Given the description of an element on the screen output the (x, y) to click on. 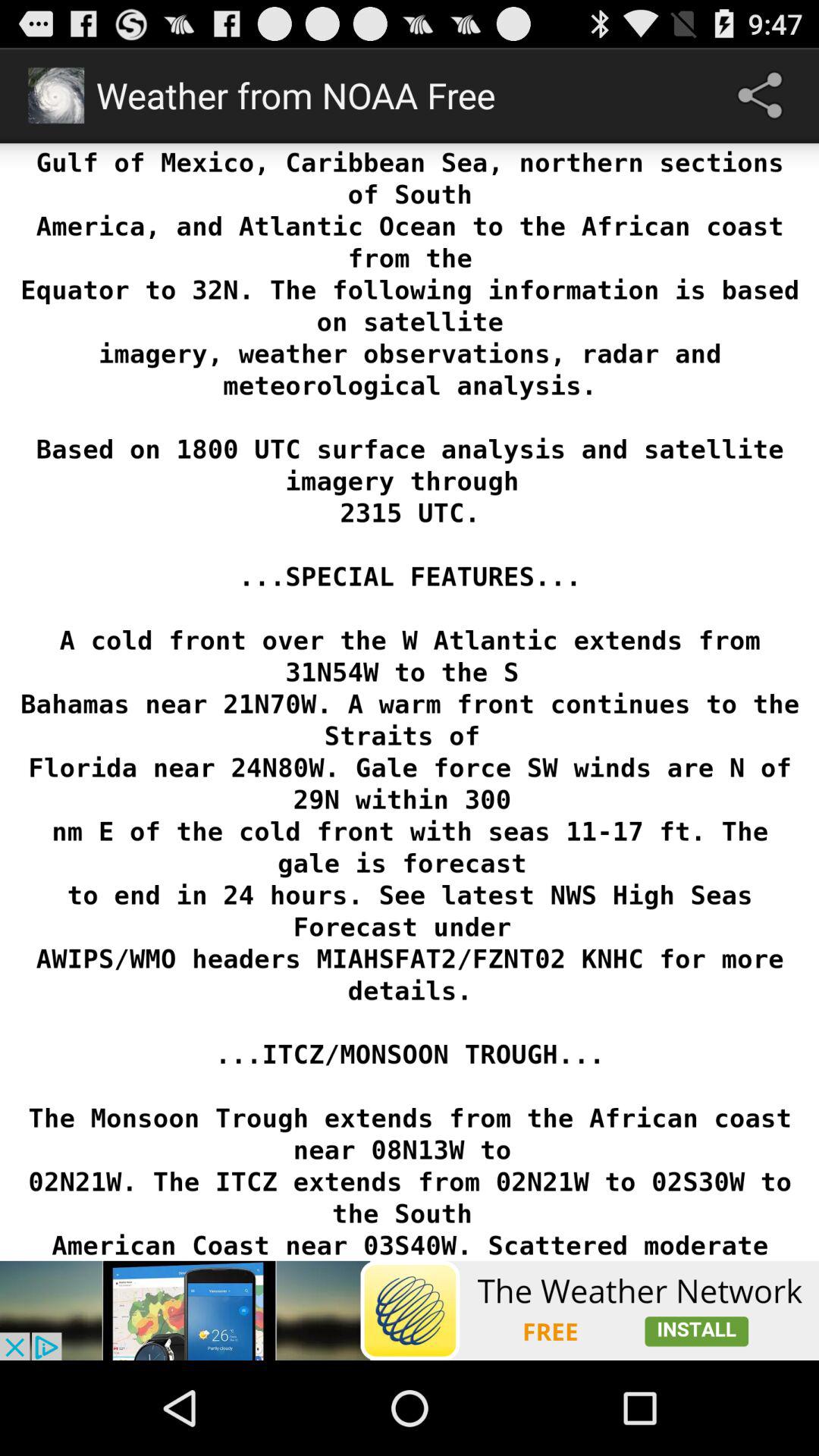
for adverisment (409, 1310)
